Given the description of an element on the screen output the (x, y) to click on. 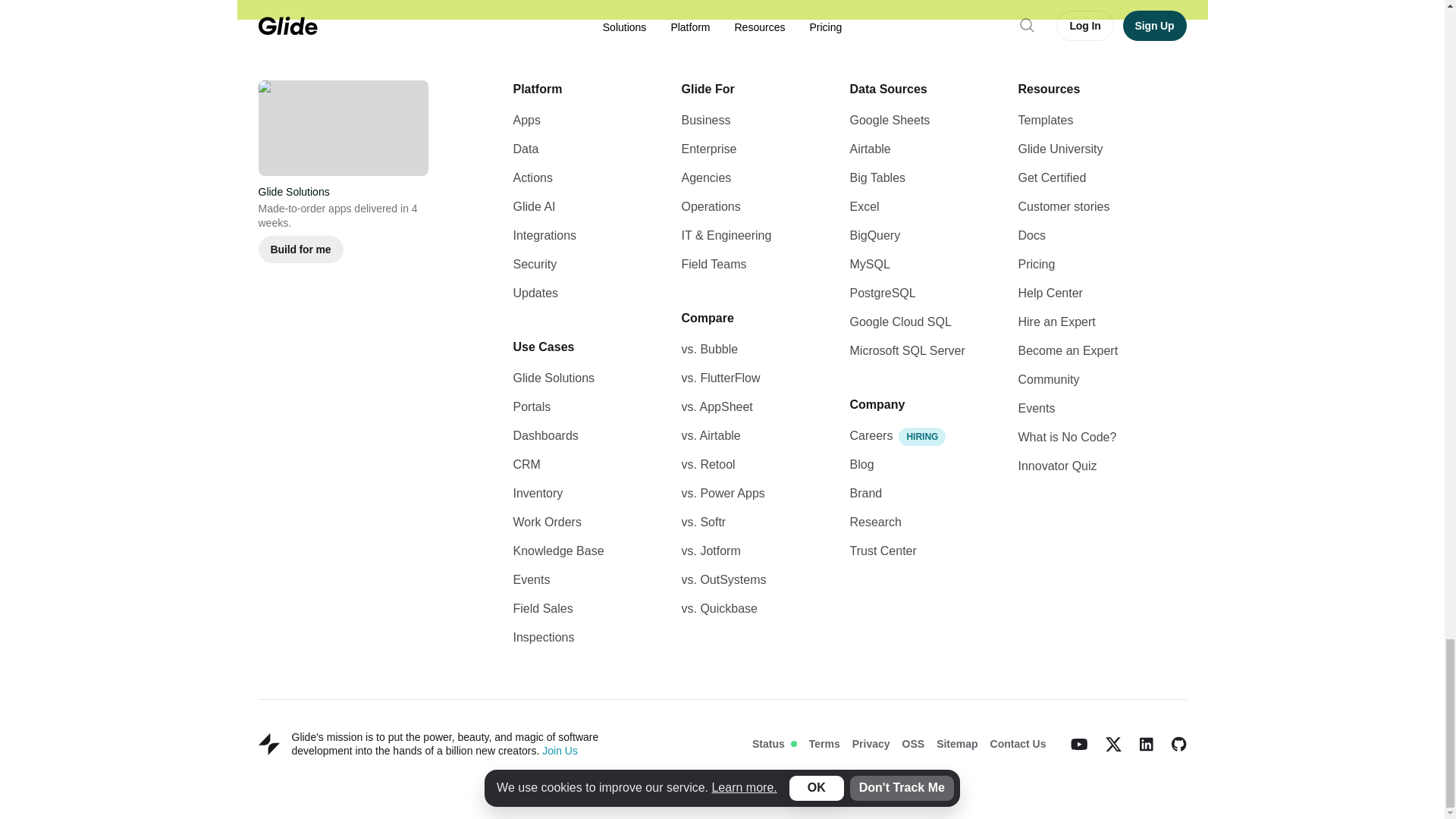
Glide Solutions (553, 378)
Updates (534, 293)
Apps (526, 120)
Work Orders (546, 522)
Inspections (542, 637)
Security (534, 264)
Dashboards (545, 435)
Data (525, 149)
CRM (526, 464)
Integrations (544, 235)
Inventory (537, 493)
Events (531, 579)
Knowledge Base (558, 551)
Portals (531, 406)
Actions (531, 177)
